Given the description of an element on the screen output the (x, y) to click on. 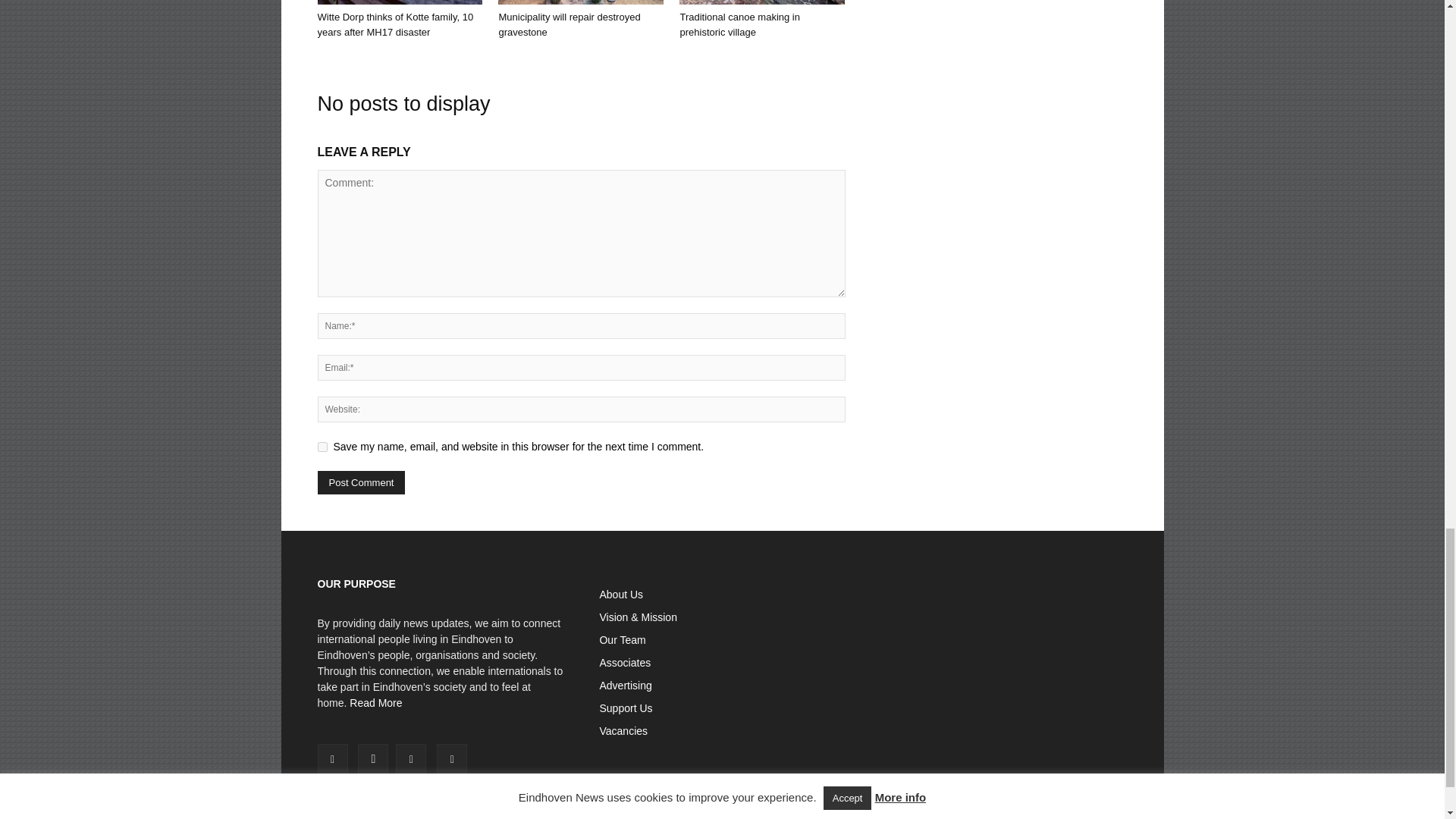
yes (321, 447)
Post Comment (360, 482)
